Given the description of an element on the screen output the (x, y) to click on. 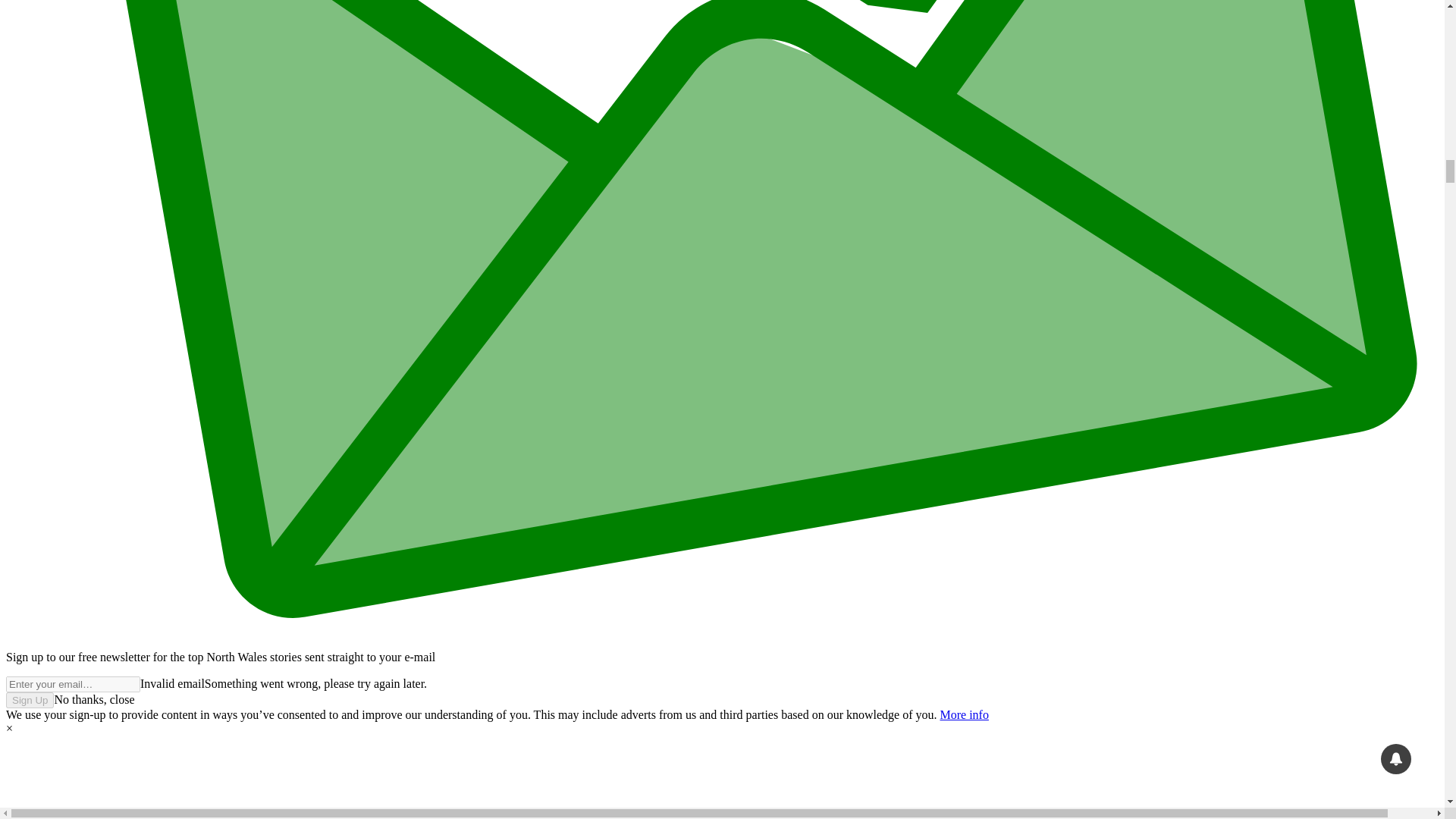
Group 28 (721, 777)
